Given the description of an element on the screen output the (x, y) to click on. 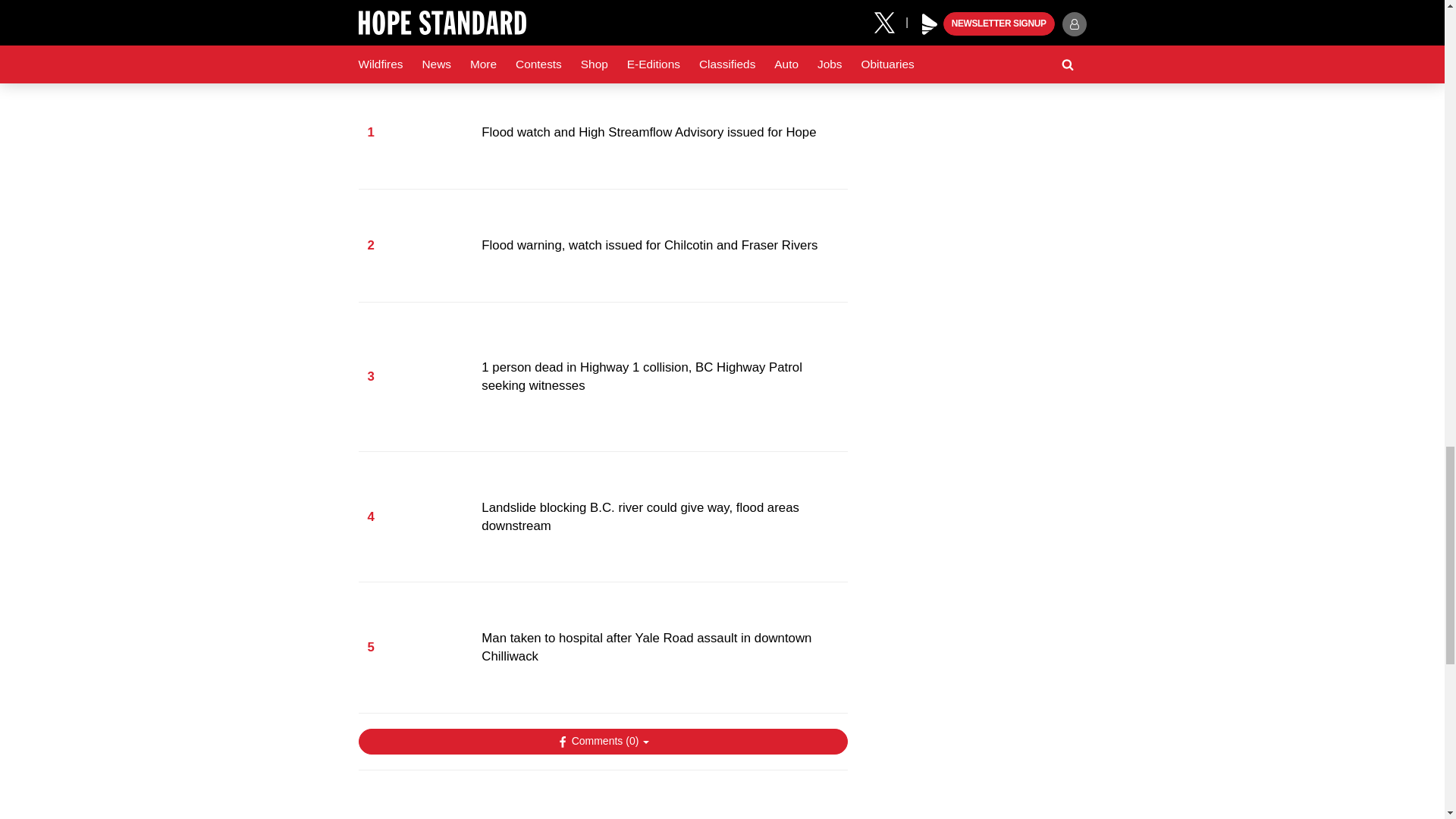
Show Comments (602, 741)
